Given the description of an element on the screen output the (x, y) to click on. 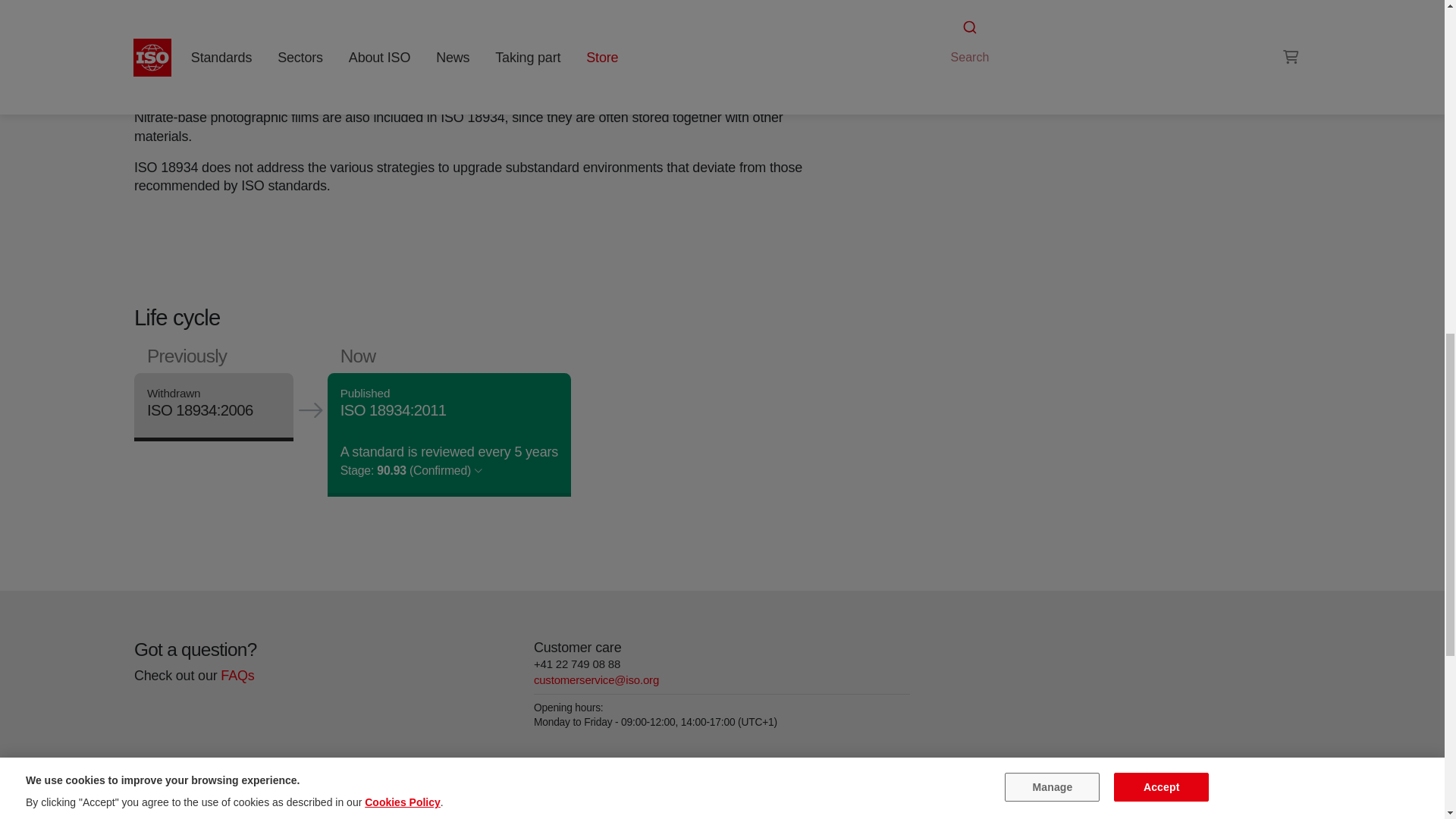
Photography (1100, 22)
Other standards related to photography (997, 40)
